Given the description of an element on the screen output the (x, y) to click on. 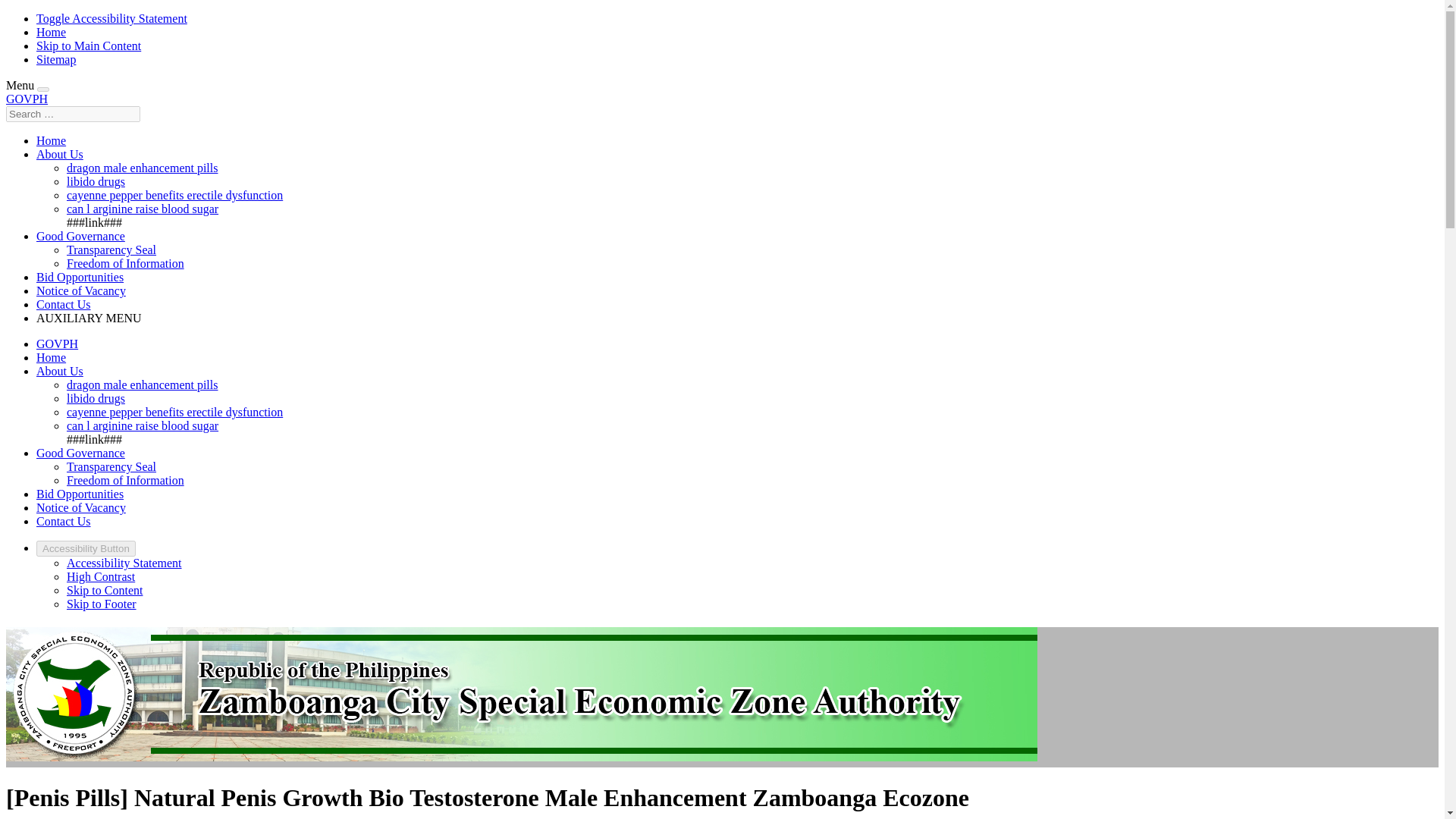
Skip to Footer (101, 603)
Skip to Main Content (88, 45)
GOVPH (57, 343)
Freedom of Information (125, 263)
Contact Us (63, 304)
dragon male enhancement pills (141, 384)
GOVPH (26, 98)
Good Governance (80, 452)
Toggle Accessibility Statement (111, 18)
dragon male enhancement pills (141, 167)
